Given the description of an element on the screen output the (x, y) to click on. 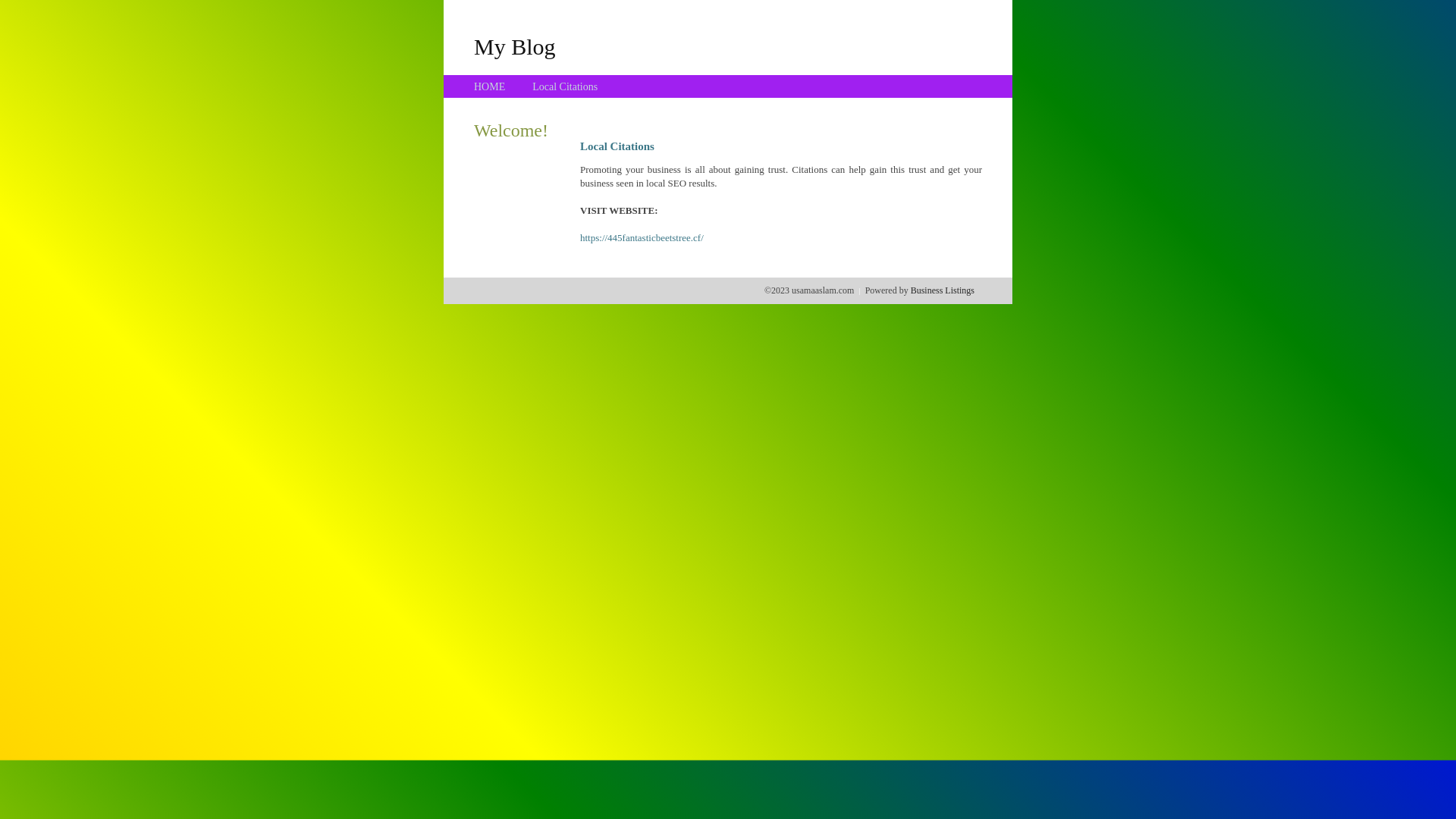
Business Listings Element type: text (942, 290)
My Blog Element type: text (514, 46)
Local Citations Element type: text (564, 86)
https://445fantasticbeetstree.cf/ Element type: text (641, 237)
HOME Element type: text (489, 86)
